Given the description of an element on the screen output the (x, y) to click on. 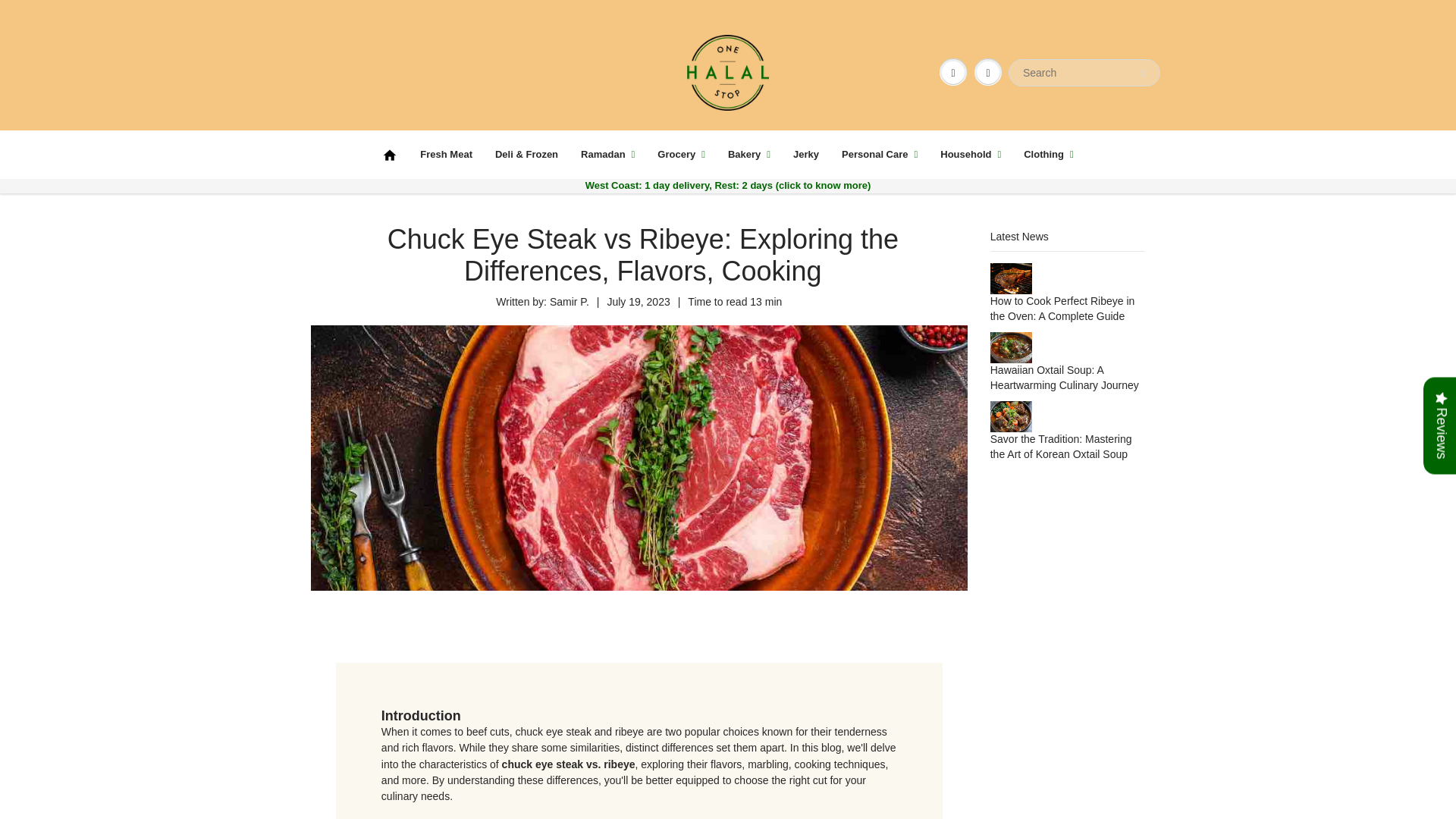
Fresh Meat (446, 154)
Grocery (681, 154)
Ramadan (607, 154)
